Given the description of an element on the screen output the (x, y) to click on. 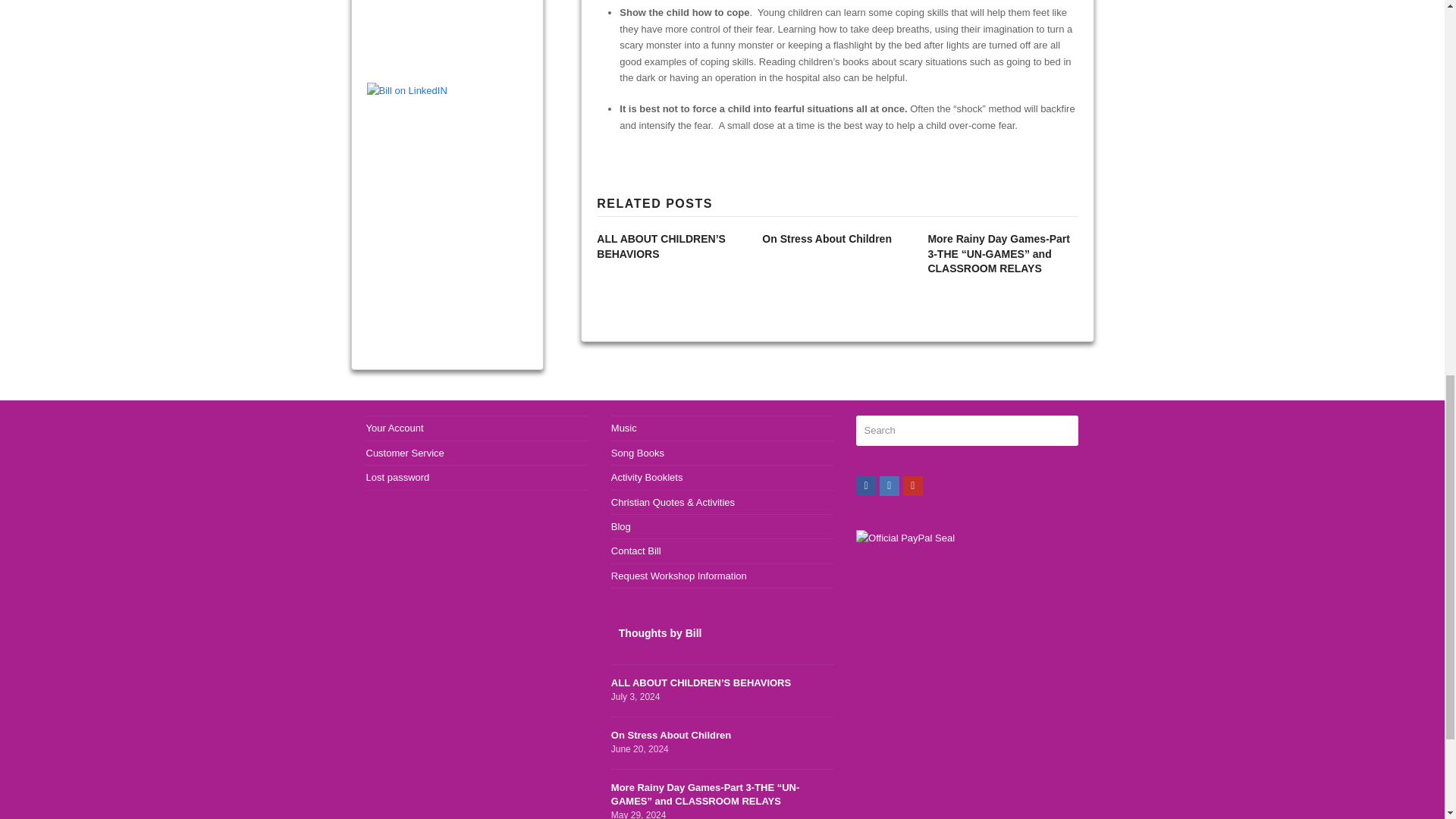
Music (624, 428)
LinkedIn (889, 485)
Activity Booklets (646, 477)
Request Workshop Information (678, 575)
Blog (620, 526)
Your Account (394, 428)
Facebook (866, 485)
Customer Service (404, 452)
Youtube (721, 742)
